Given the description of an element on the screen output the (x, y) to click on. 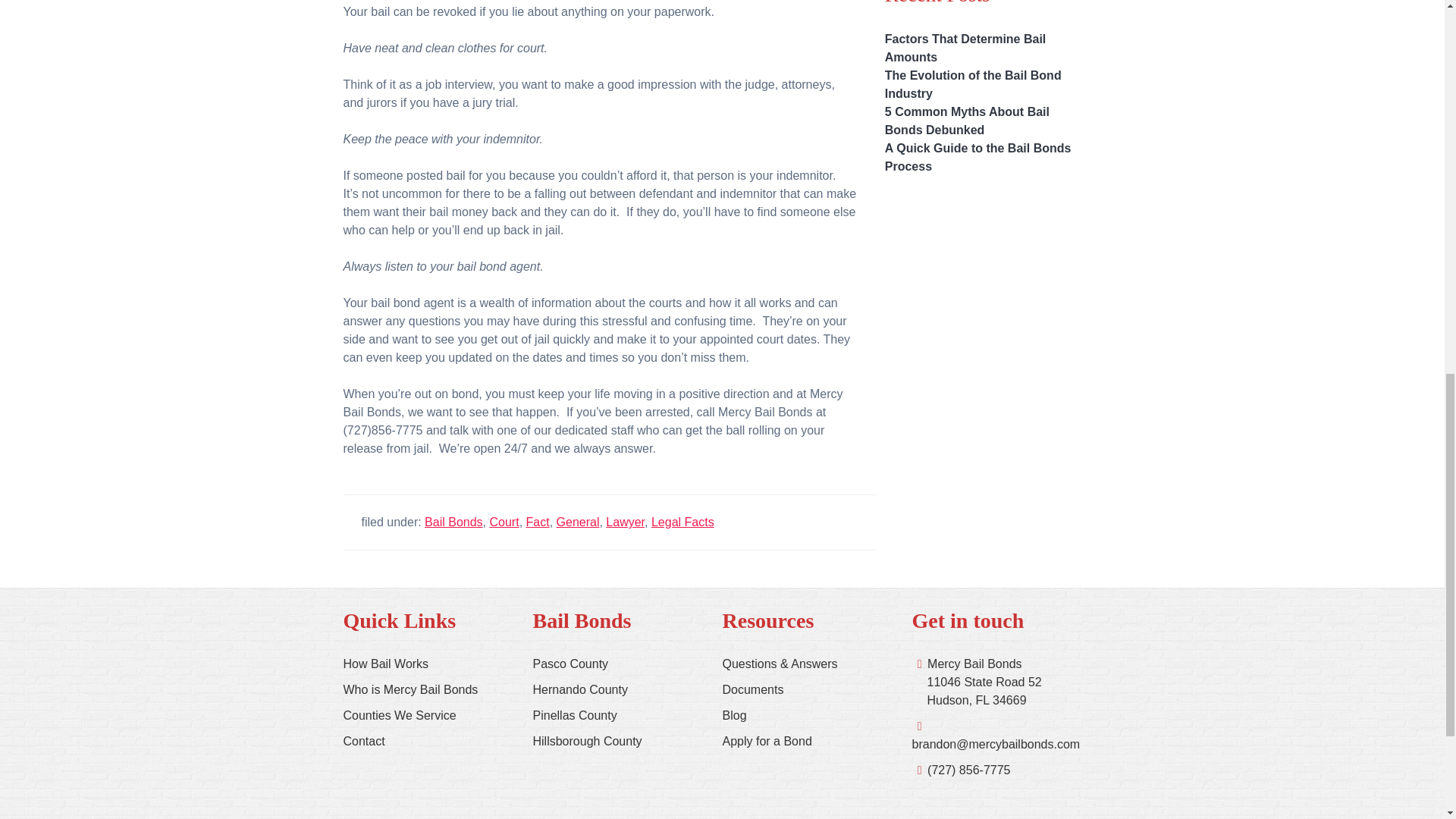
Factors That Determine Bail Amounts (965, 47)
Fact (537, 521)
General (577, 521)
Legal Facts (682, 521)
Court (504, 521)
Lawyer (625, 521)
Bail Bonds (454, 521)
